Given the description of an element on the screen output the (x, y) to click on. 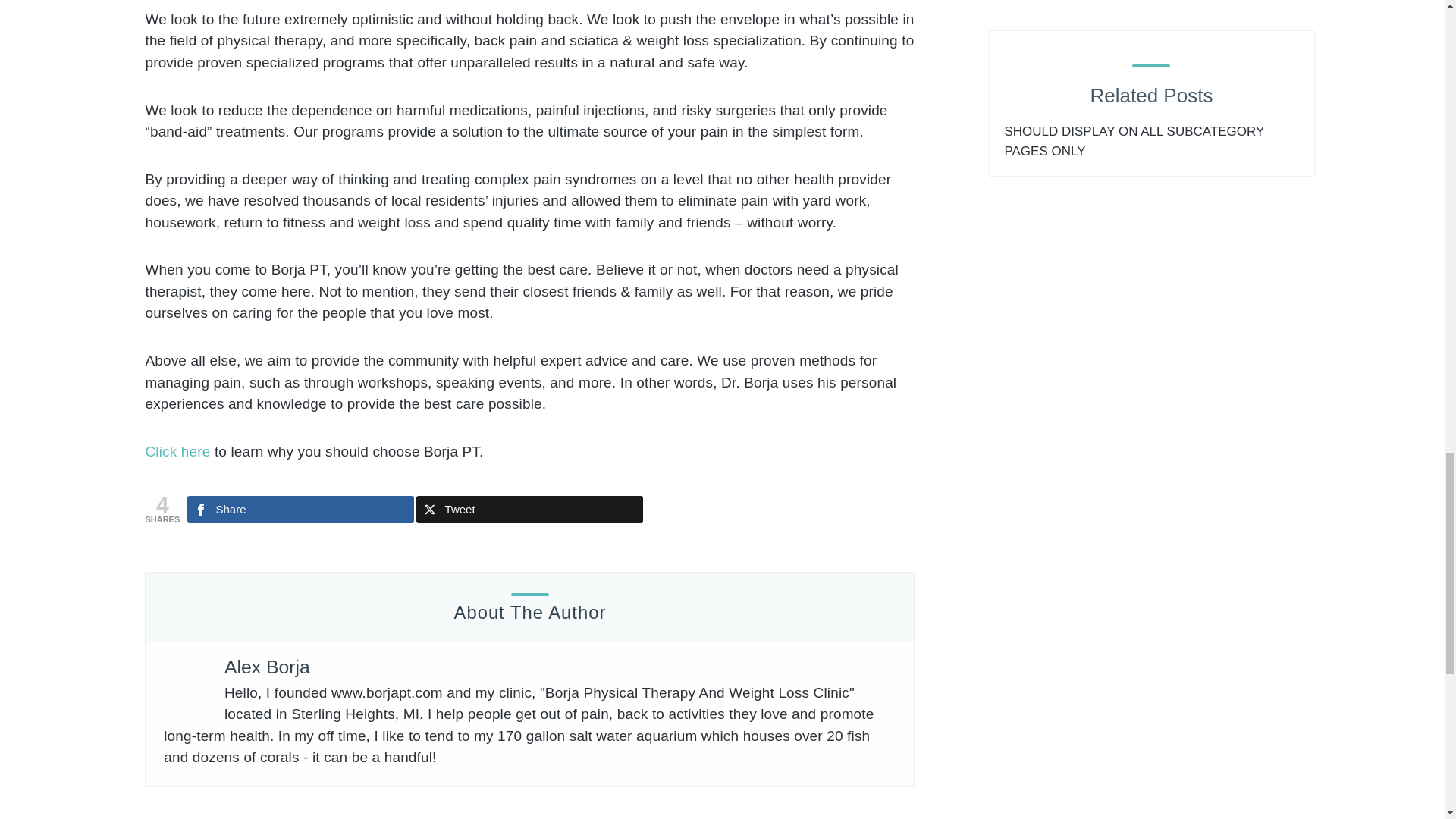
Click here (176, 451)
Share (300, 509)
Tweet (529, 509)
